Given the description of an element on the screen output the (x, y) to click on. 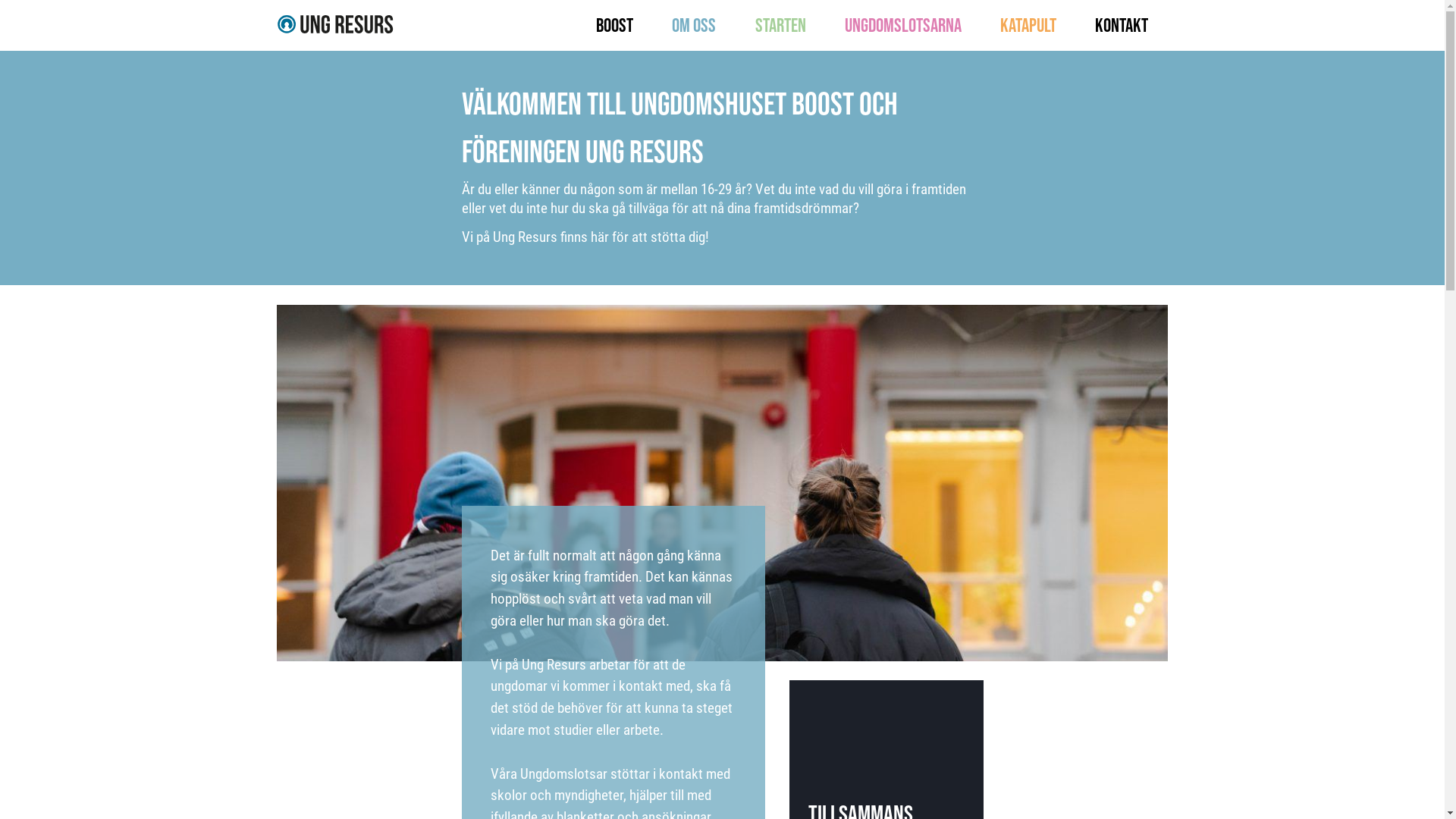
Katapult Element type: text (1028, 25)
Ung Resurs Element type: text (334, 23)
Om oss Element type: text (693, 25)
Starten Element type: text (780, 25)
Ungdomslotsarna Element type: text (902, 25)
Kontakt Element type: text (1121, 25)
Boost Element type: text (614, 25)
